Given the description of an element on the screen output the (x, y) to click on. 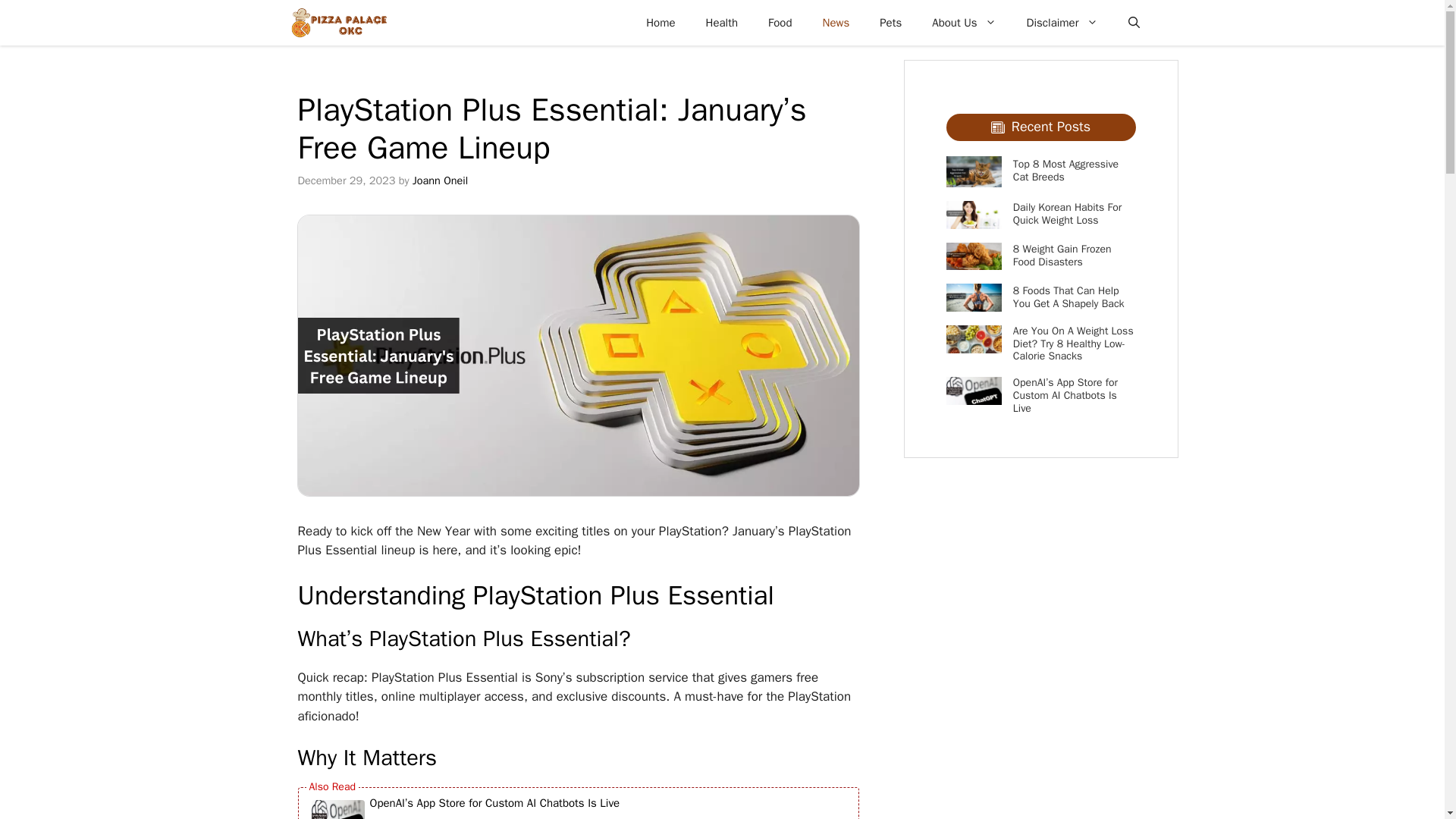
Health (722, 22)
Top 8 Most Aggressive Cat Breeds (1065, 170)
News (836, 22)
Pizza Palace OKC (338, 22)
About Us (963, 22)
Daily Korean Habits For Quick Weight Loss (1067, 213)
Food (779, 22)
View all posts by Joann Oneil (439, 180)
8 Foods That Can Help You Get A Shapely Back (1068, 297)
Disclaimer (1062, 22)
8 Weight Gain Frozen Food Disasters (1062, 255)
Joann Oneil (439, 180)
Pets (890, 22)
Home (660, 22)
